Given the description of an element on the screen output the (x, y) to click on. 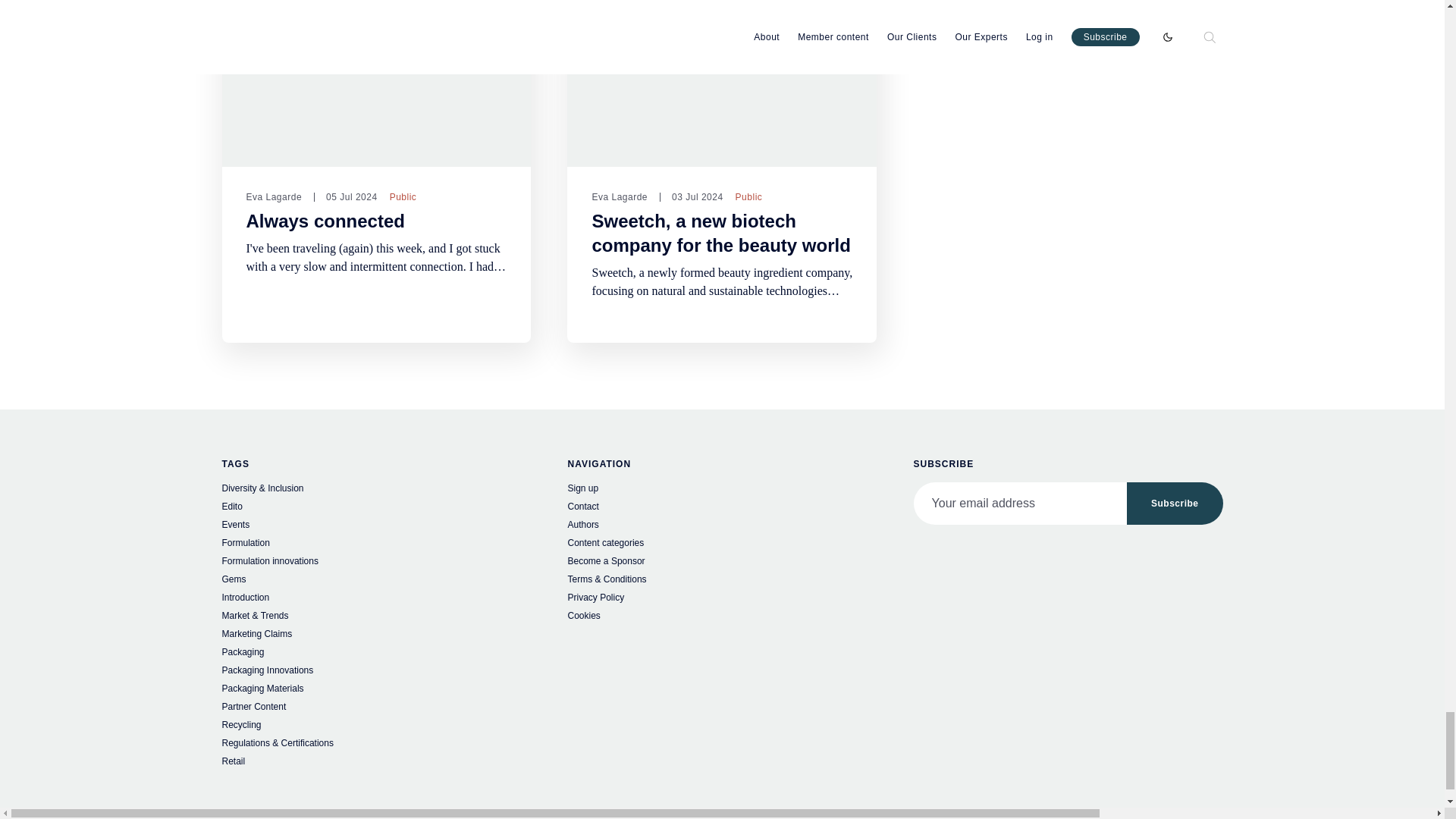
Always connected (325, 220)
Eva Lagarde (273, 196)
